Given the description of an element on the screen output the (x, y) to click on. 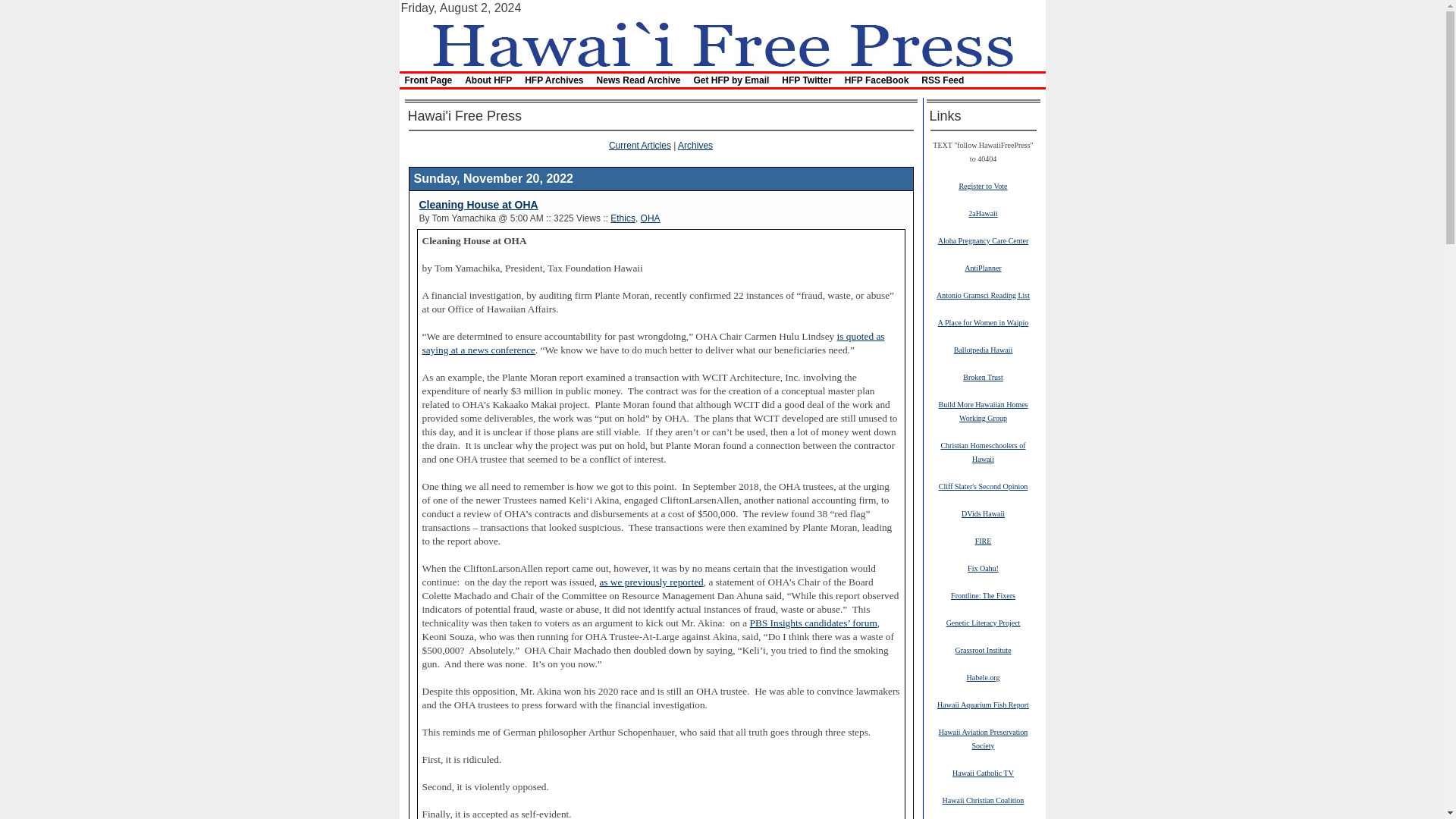
Hawaii Free Press (721, 42)
as we previously reported (650, 582)
Hawaii Christian Coalition (983, 799)
Christian Homeschoolers of Hawaii (982, 451)
Broken Trust (982, 376)
Register to Vote (982, 185)
Genetic Literacy Project (983, 622)
Cliff Slater's Second Opinion (983, 485)
Current Articles (639, 145)
Antonio Gramsci Reading List (982, 294)
Hawaii Catholic TV (982, 772)
Build More Hawaiian Homes Working Group (982, 410)
Cleaning House at OHA (478, 204)
Hawaii Aviation Preservation Society (983, 738)
2aHawaii (982, 213)
